Given the description of an element on the screen output the (x, y) to click on. 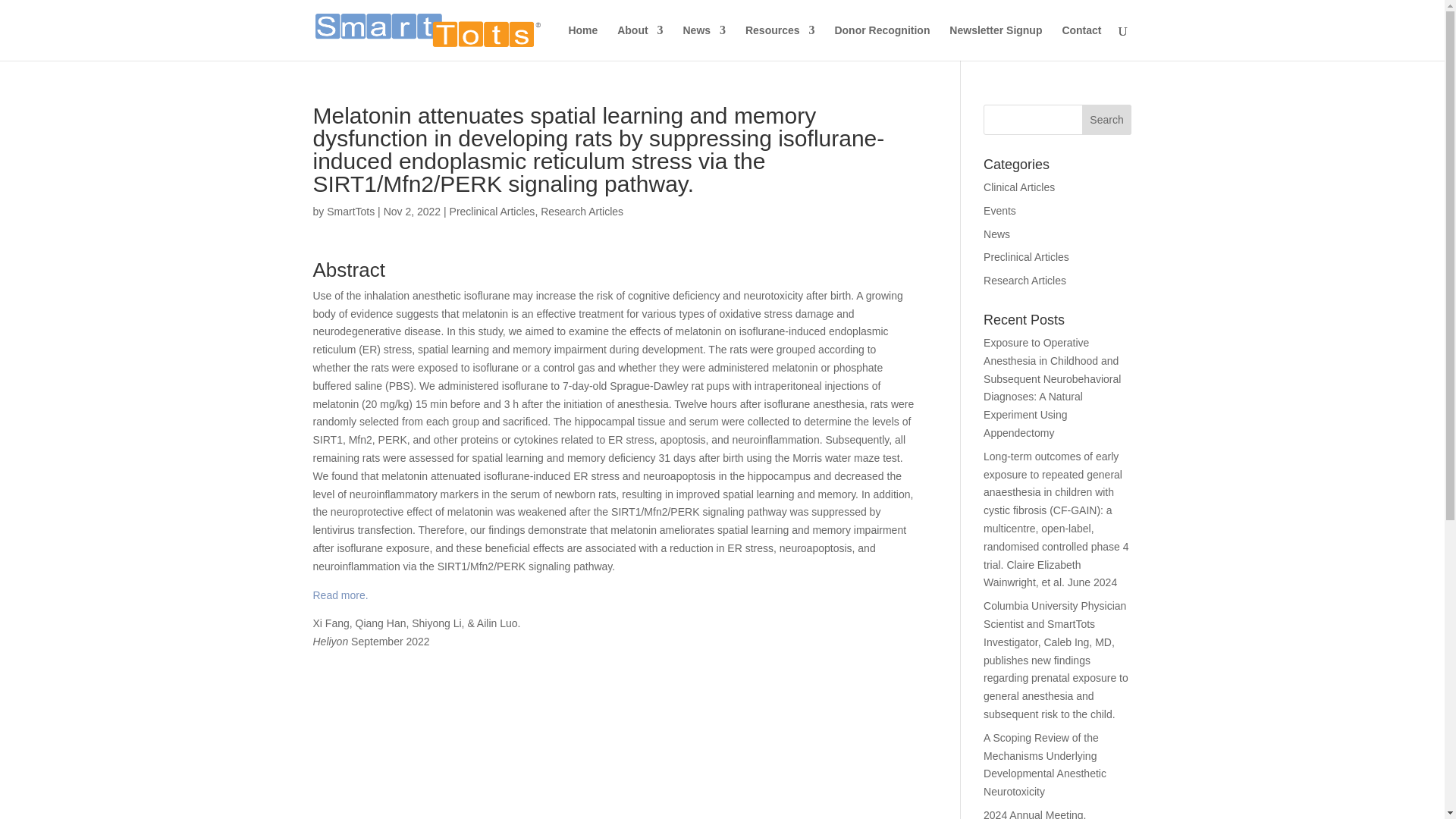
Newsletter Signup (995, 42)
SmartTots (350, 211)
News (703, 42)
Contact (1080, 42)
Resources (780, 42)
Search (1106, 119)
Posts by SmartTots (350, 211)
Donor Recognition (882, 42)
About (639, 42)
